Given the description of an element on the screen output the (x, y) to click on. 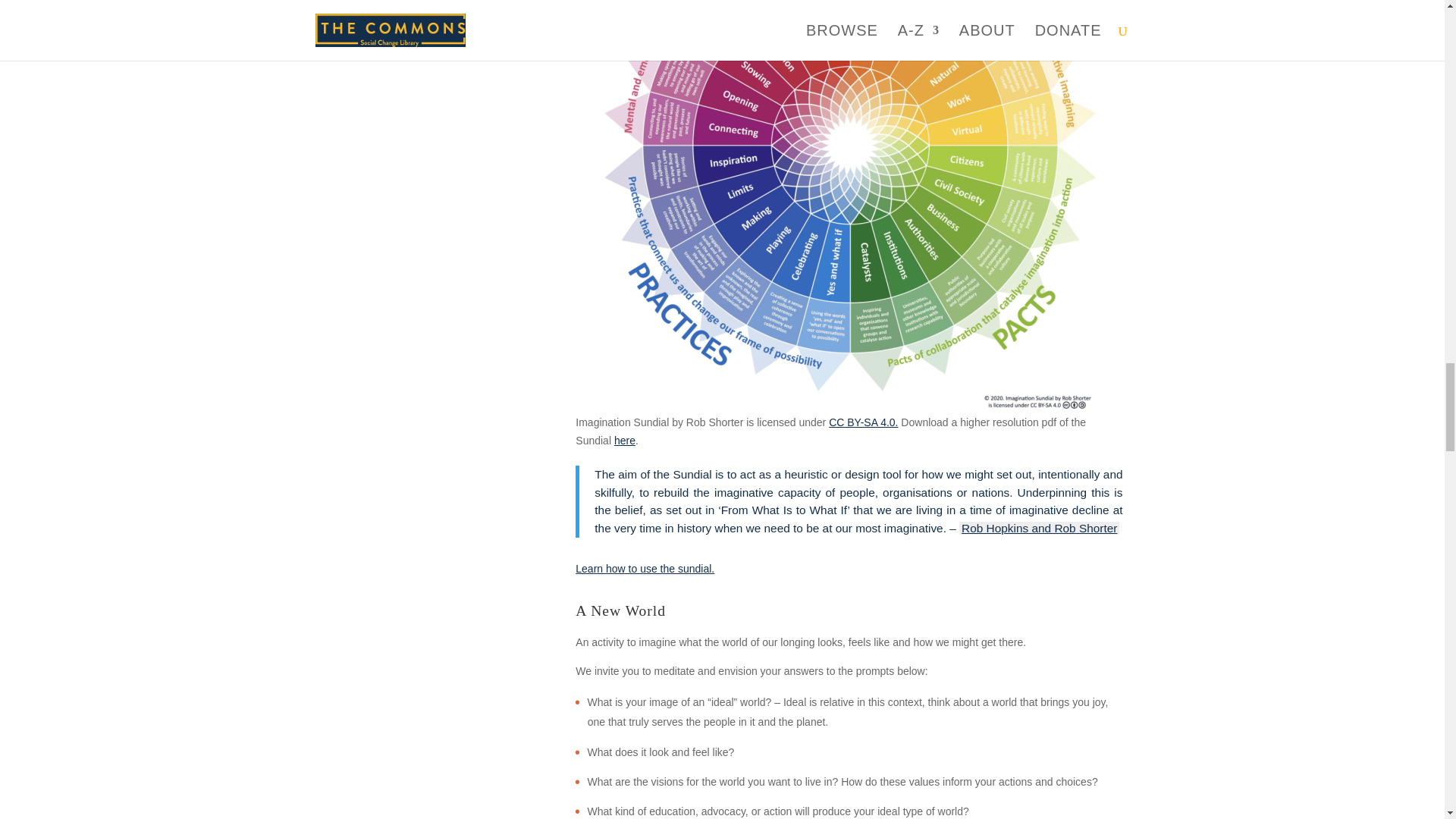
Rob Hopkins and Rob Shorter (1039, 527)
Learn how to use the sundial. (644, 568)
CC BY-SA 4.0. (863, 422)
here (624, 440)
